Given the description of an element on the screen output the (x, y) to click on. 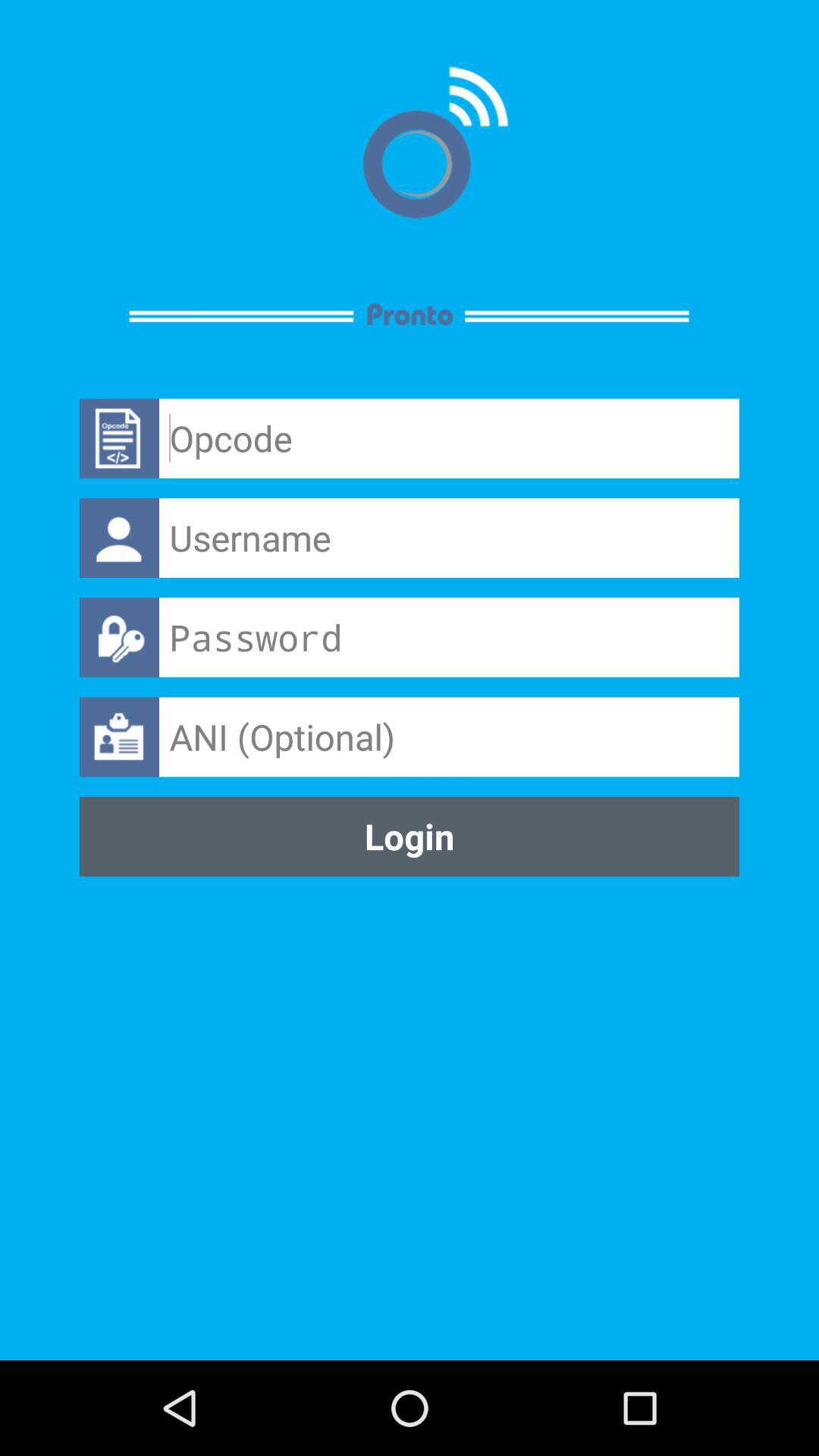
enter username (449, 537)
